Given the description of an element on the screen output the (x, y) to click on. 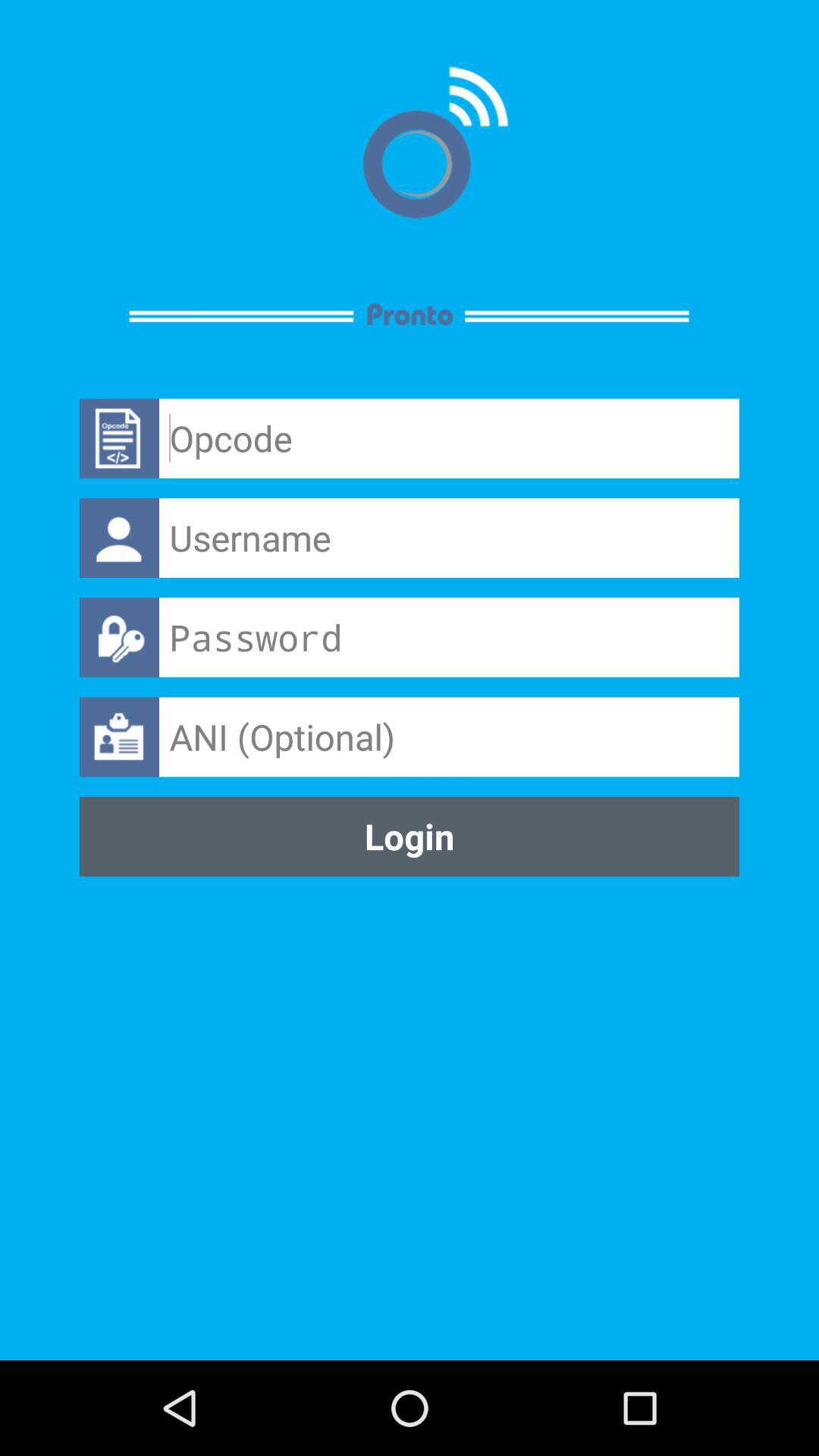
enter username (449, 537)
